Given the description of an element on the screen output the (x, y) to click on. 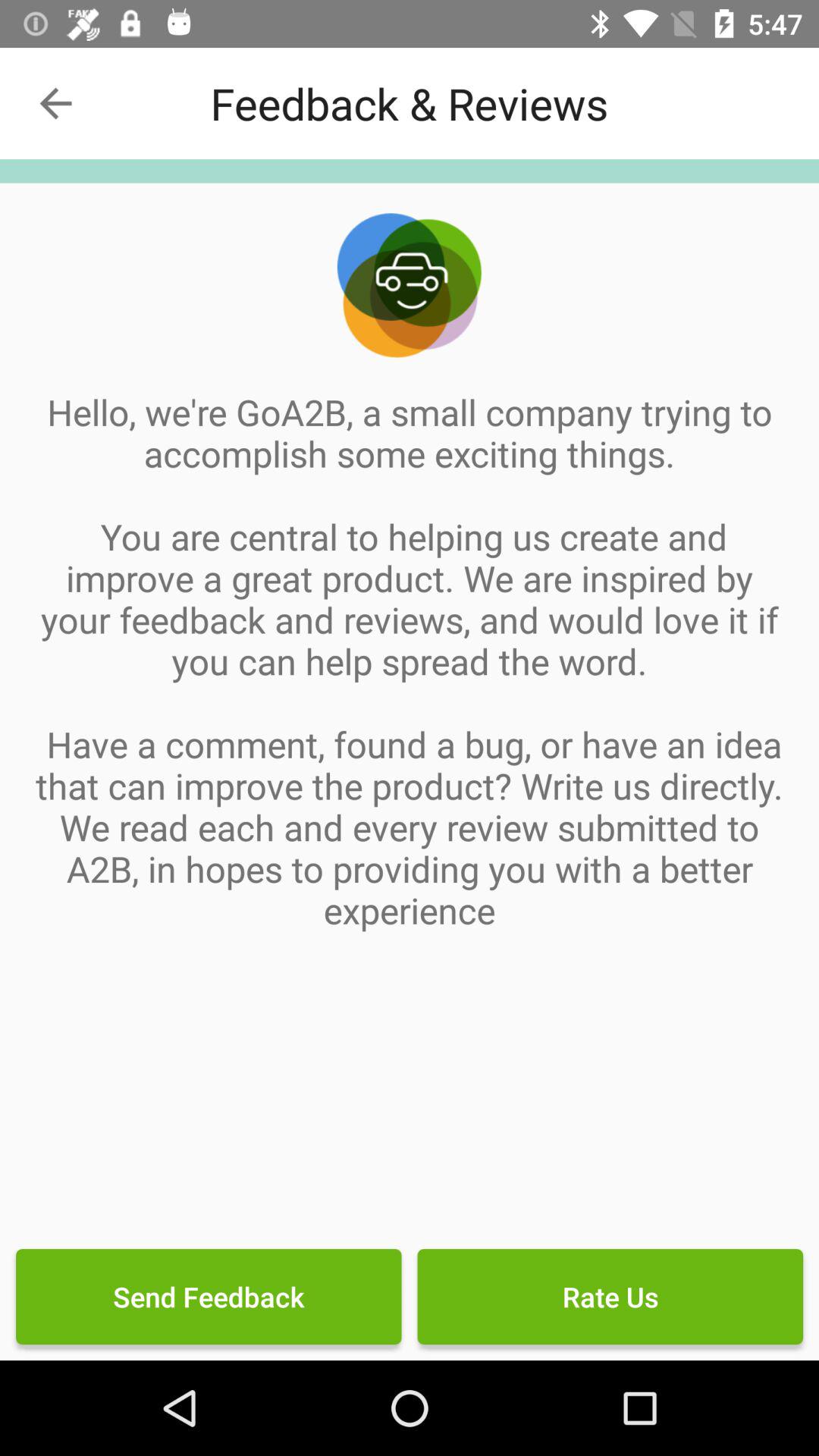
swipe until send feedback icon (208, 1296)
